Given the description of an element on the screen output the (x, y) to click on. 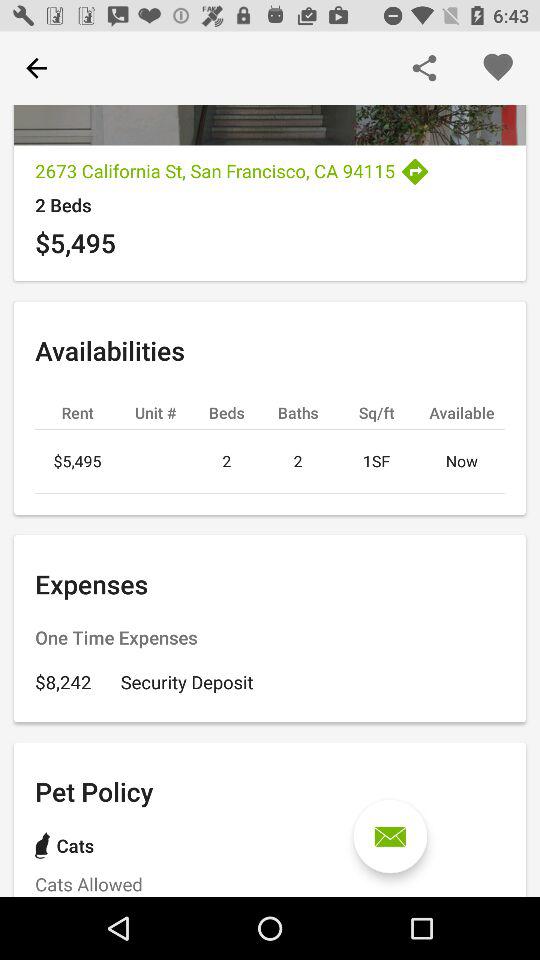
email contact (389, 836)
